Given the description of an element on the screen output the (x, y) to click on. 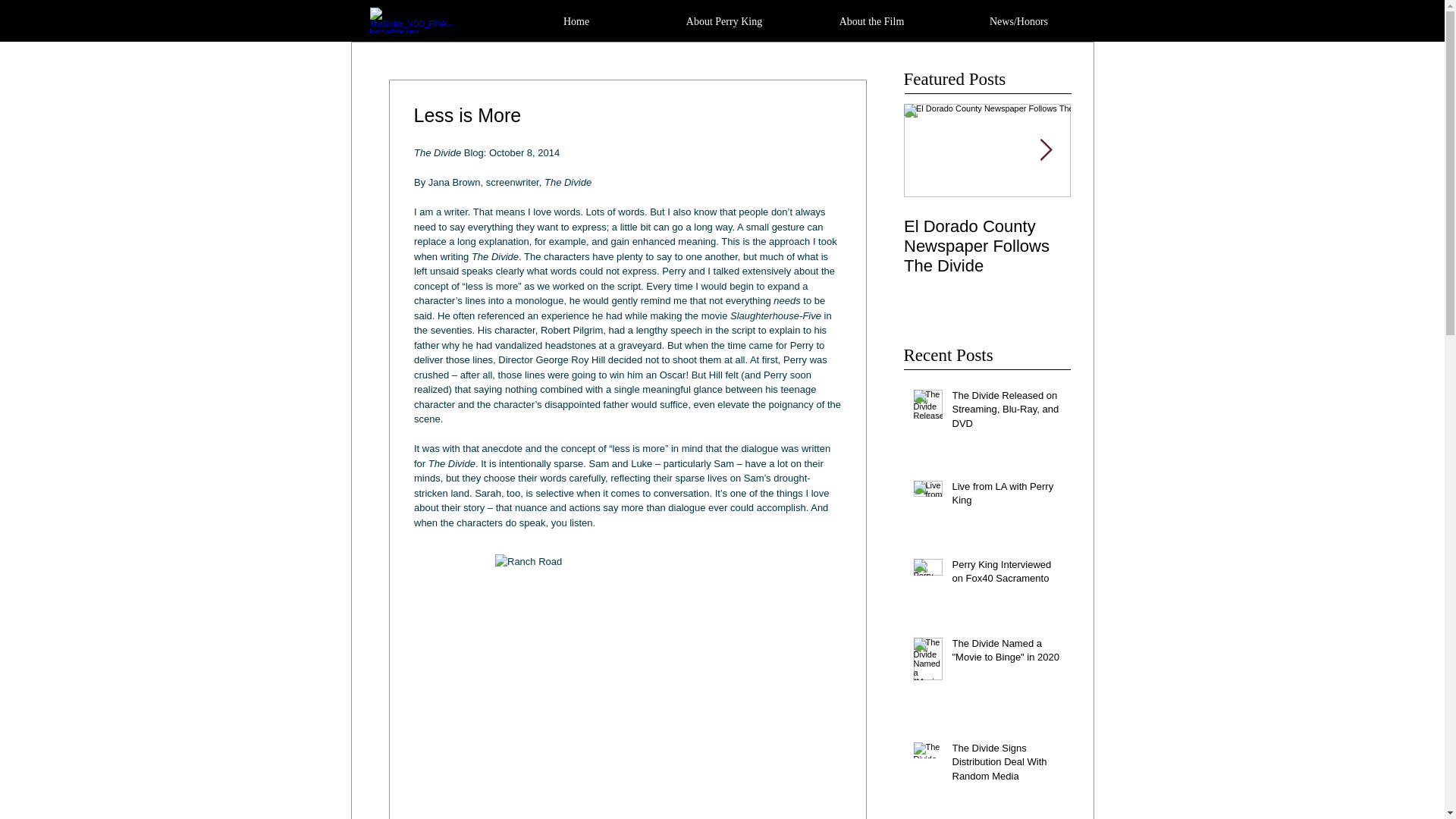
Home (575, 20)
About Perry King (724, 20)
About the Film (871, 20)
The Divide Signs Distribution Deal With Random Media (1006, 765)
Live from LA with Perry King (1006, 496)
KCRA Sacramento Features Perry King and The Divide (1153, 246)
The Divide Named a "Movie to Binge" in 2020 (1006, 653)
The Divide Released on Streaming, Blu-Ray, and DVD (1006, 412)
El Dorado County Newspaper Follows The Divide (987, 246)
Perry King Interviewed on Fox40 Sacramento (1006, 574)
